Given the description of an element on the screen output the (x, y) to click on. 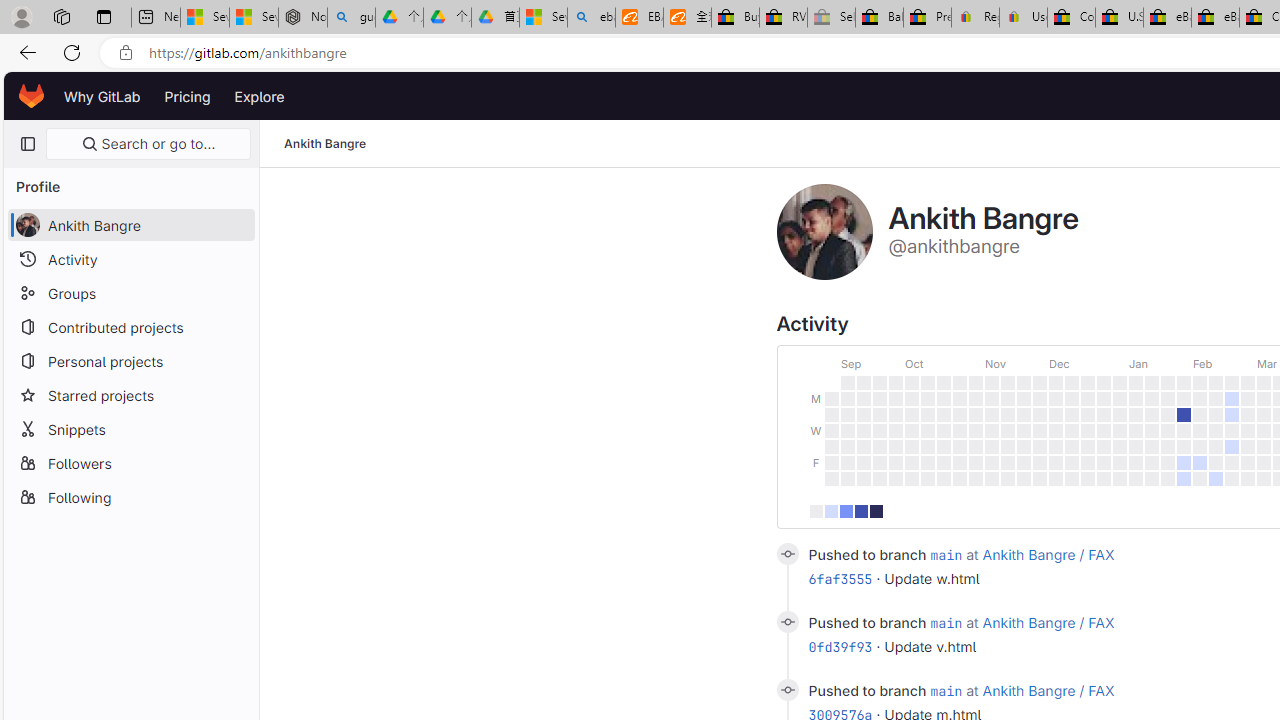
Press Room - eBay Inc. (927, 17)
6faf3555 (839, 579)
Explore (259, 95)
